Given the description of an element on the screen output the (x, y) to click on. 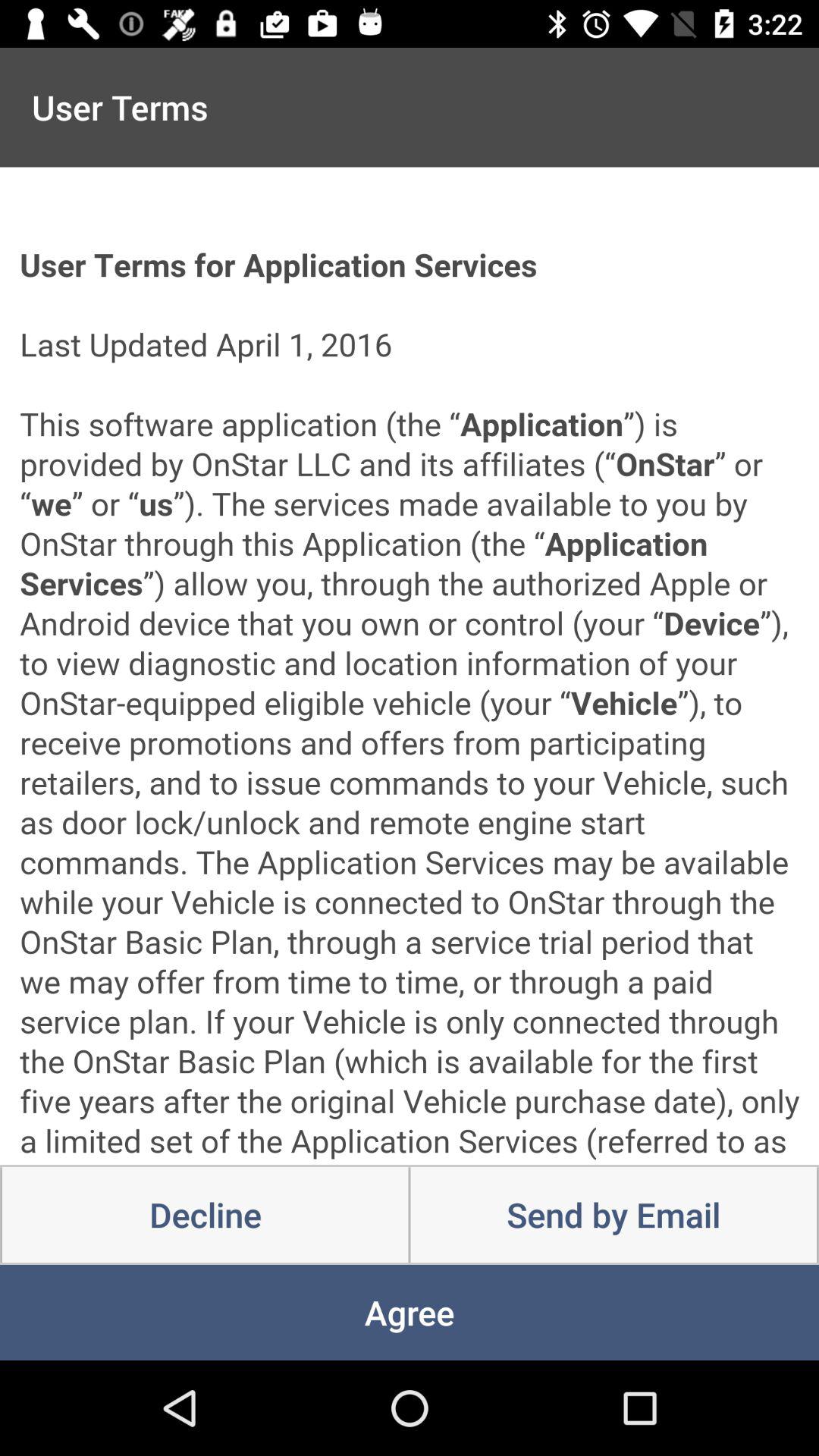
scroll until the decline (205, 1214)
